Given the description of an element on the screen output the (x, y) to click on. 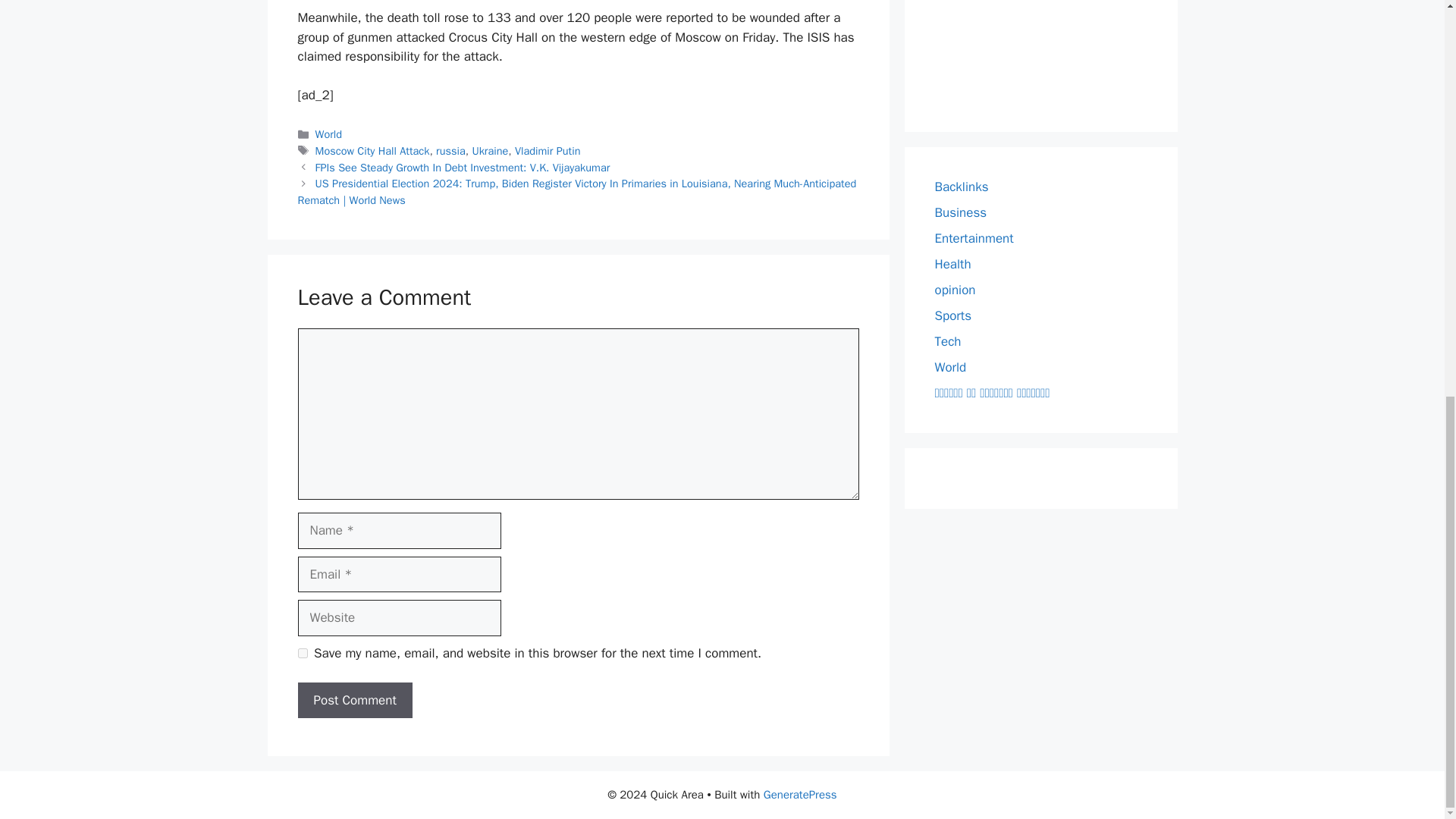
Ukraine (489, 151)
FPIs See Steady Growth In Debt Investment: V.K. Vijayakumar (462, 167)
Post Comment (354, 700)
World (328, 133)
Post Comment (354, 700)
Vladimir Putin (547, 151)
Sports (952, 315)
Moscow City Hall Attack (372, 151)
yes (302, 653)
World (950, 367)
